Given the description of an element on the screen output the (x, y) to click on. 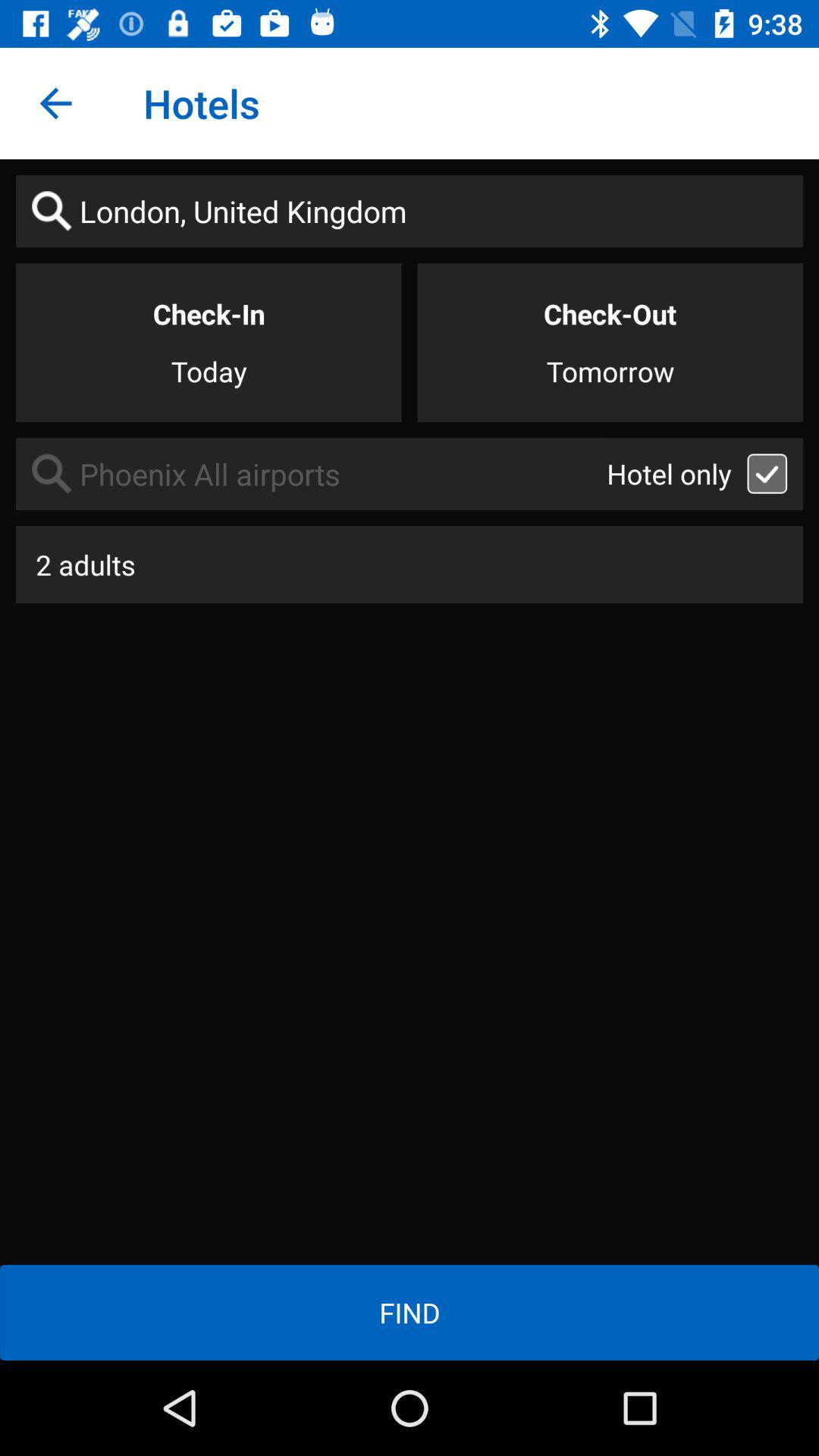
click the 2 adults (409, 564)
